Given the description of an element on the screen output the (x, y) to click on. 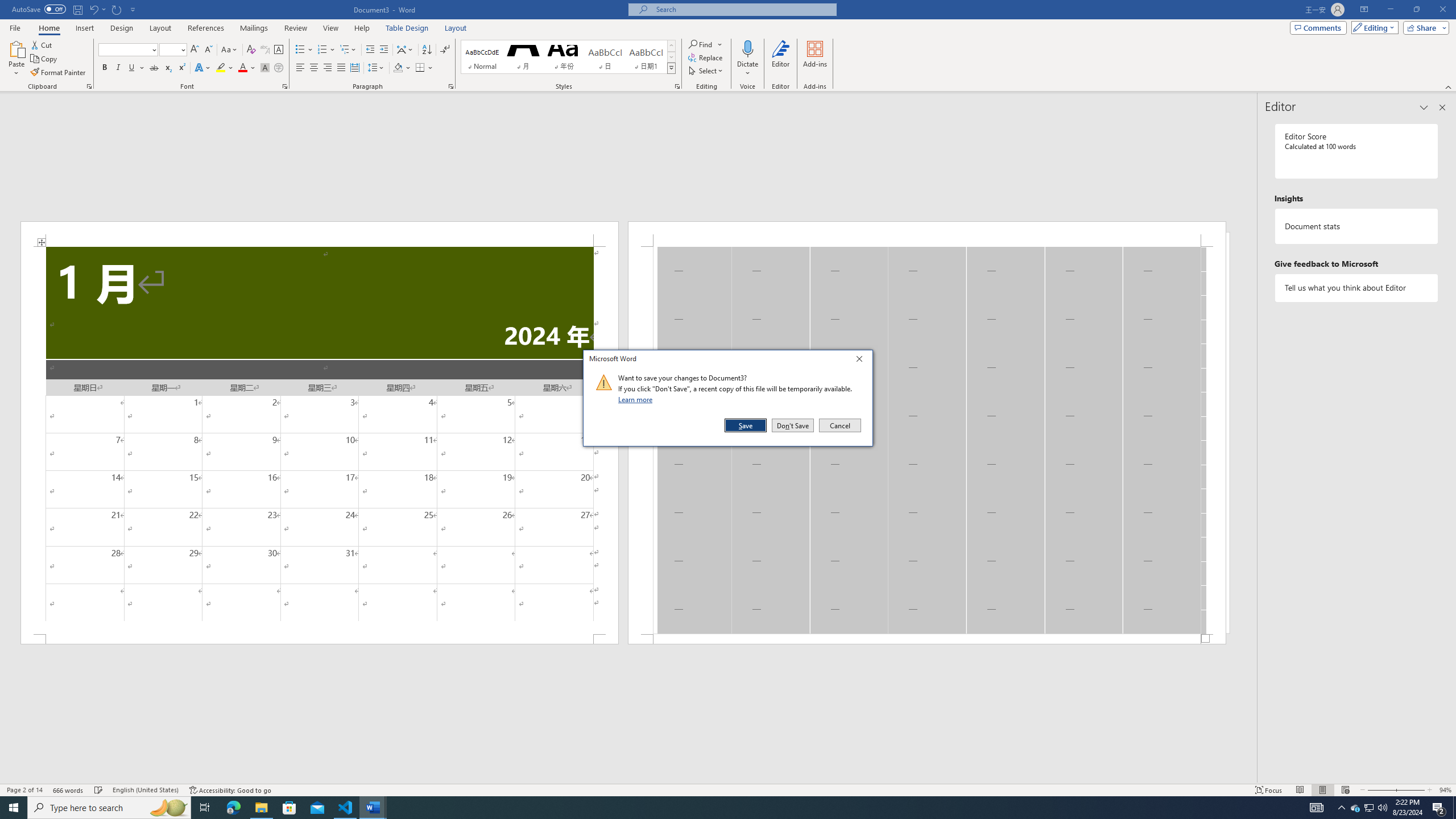
Document statistics (1356, 226)
Change Case (229, 49)
Replace... (705, 56)
Styles... (676, 85)
Styles (670, 67)
Mailings (253, 28)
Text Effects and Typography (202, 67)
Learn more (636, 399)
Q2790: 100% (1382, 807)
Grow Font (193, 49)
Start (13, 807)
Paste (16, 48)
